Given the description of an element on the screen output the (x, y) to click on. 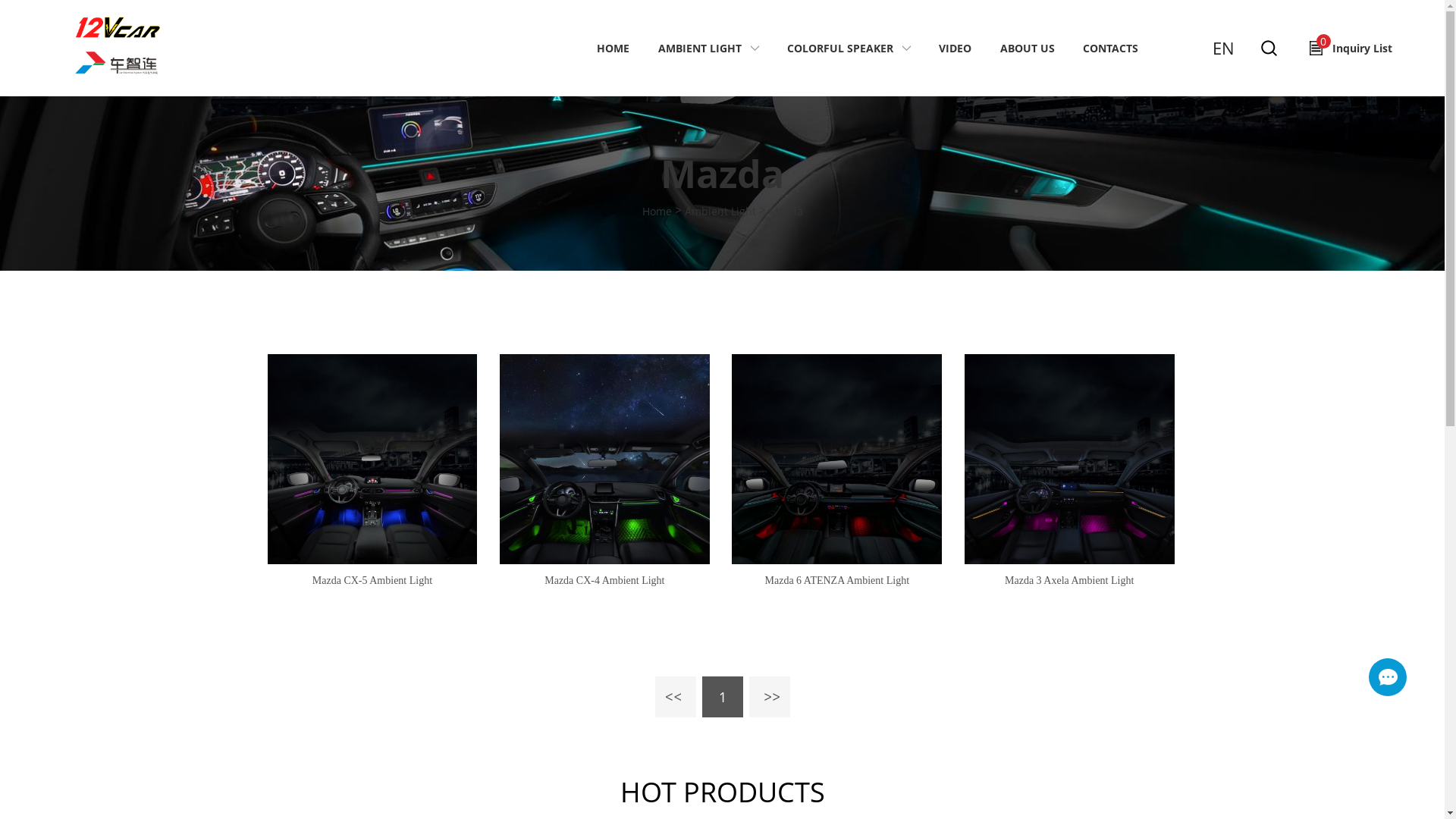
Mazda CX-4 Ambient Light Element type: hover (604, 459)
Ambient Light Element type: text (719, 210)
HOME Element type: text (612, 48)
Mazda CX-5 Ambient Light Element type: text (371, 589)
COLORFUL SPEAKER Element type: text (840, 48)
CONTACTS Element type: text (1110, 48)
Mazda 6 ATENZA Ambient Light Element type: text (836, 589)
AMBIENT LIGHT Element type: text (699, 48)
Mazda Element type: text (785, 210)
ABOUT US Element type: text (1027, 48)
Mazda CX-4 Ambient Light Element type: text (604, 589)
Mazda 3 Axela Ambient Light Element type: text (1069, 589)
VIDEO Element type: text (954, 48)
Home Element type: text (656, 210)
Mazda 6 ATENZA Ambient Light Element type: hover (836, 459)
Mazda 3 Axela Ambient Light Element type: hover (1069, 459)
Inquiry List
0 Element type: text (1350, 48)
Mazda CX-5 Ambient Light Element type: hover (371, 459)
